Given the description of an element on the screen output the (x, y) to click on. 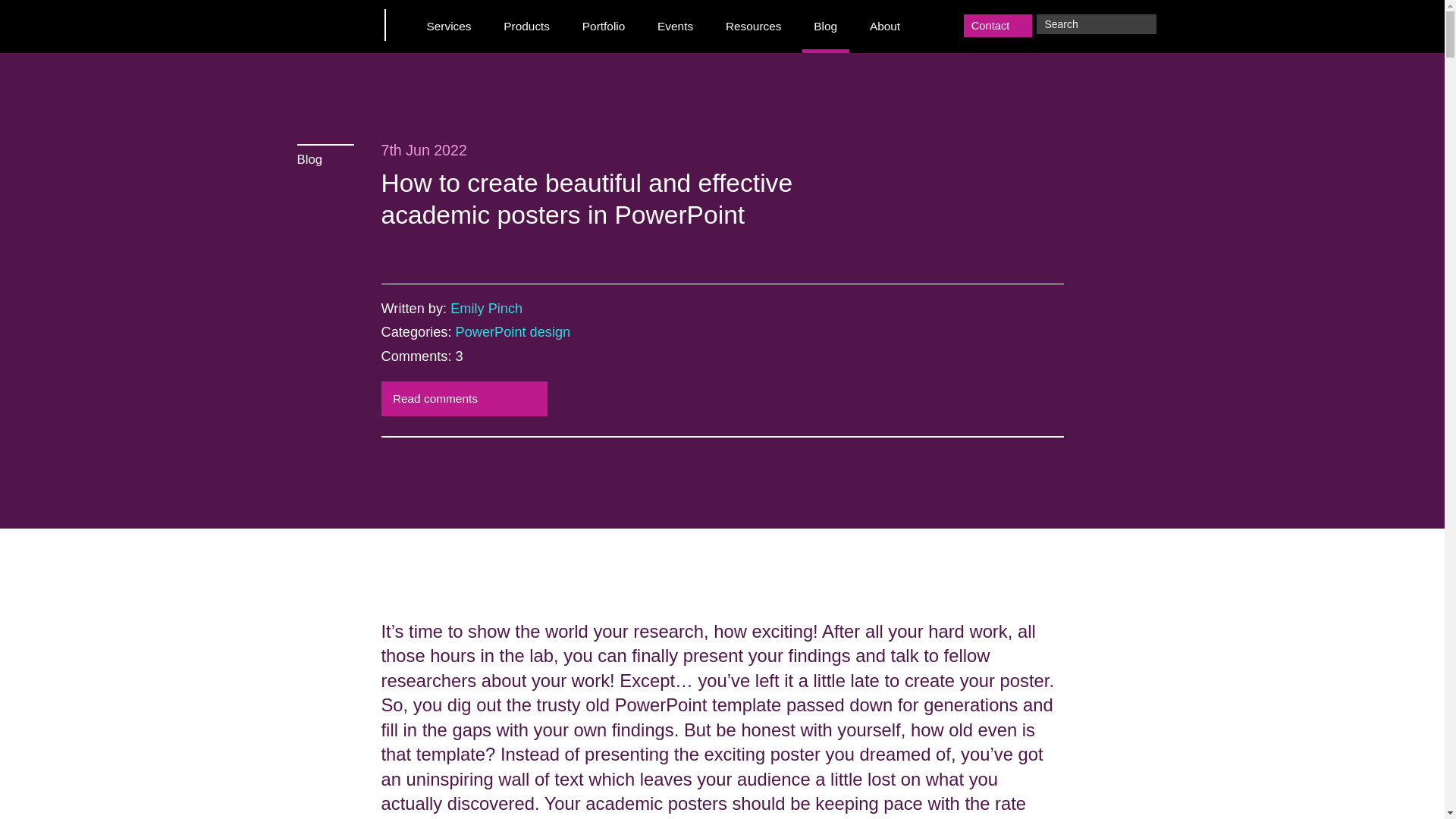
Contact (997, 25)
Resources (753, 26)
Products (527, 26)
PowerPoint design (512, 331)
Events (675, 26)
Portfolio (603, 26)
About (885, 26)
Services (448, 26)
Blog (325, 155)
Emily Pinch (485, 308)
